Given the description of an element on the screen output the (x, y) to click on. 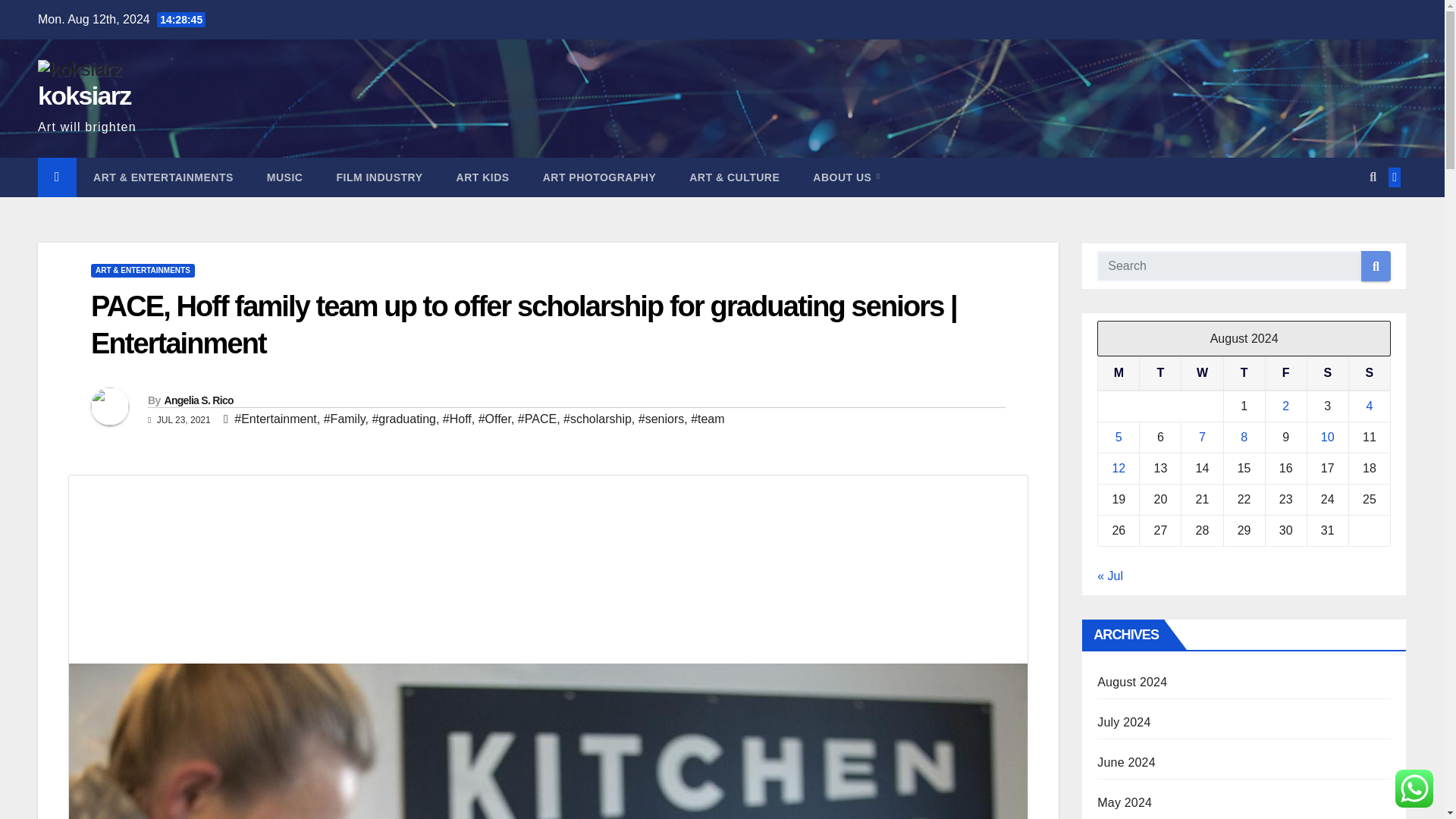
FILM INDUSTRY (378, 177)
ART PHOTOGRAPHY (598, 177)
Art Kids (482, 177)
Art Photography (598, 177)
ART KIDS (482, 177)
Angelia S. Rico (197, 399)
ABOUT US (846, 177)
koksiarz (84, 95)
Film Industry (378, 177)
Music (285, 177)
